Given the description of an element on the screen output the (x, y) to click on. 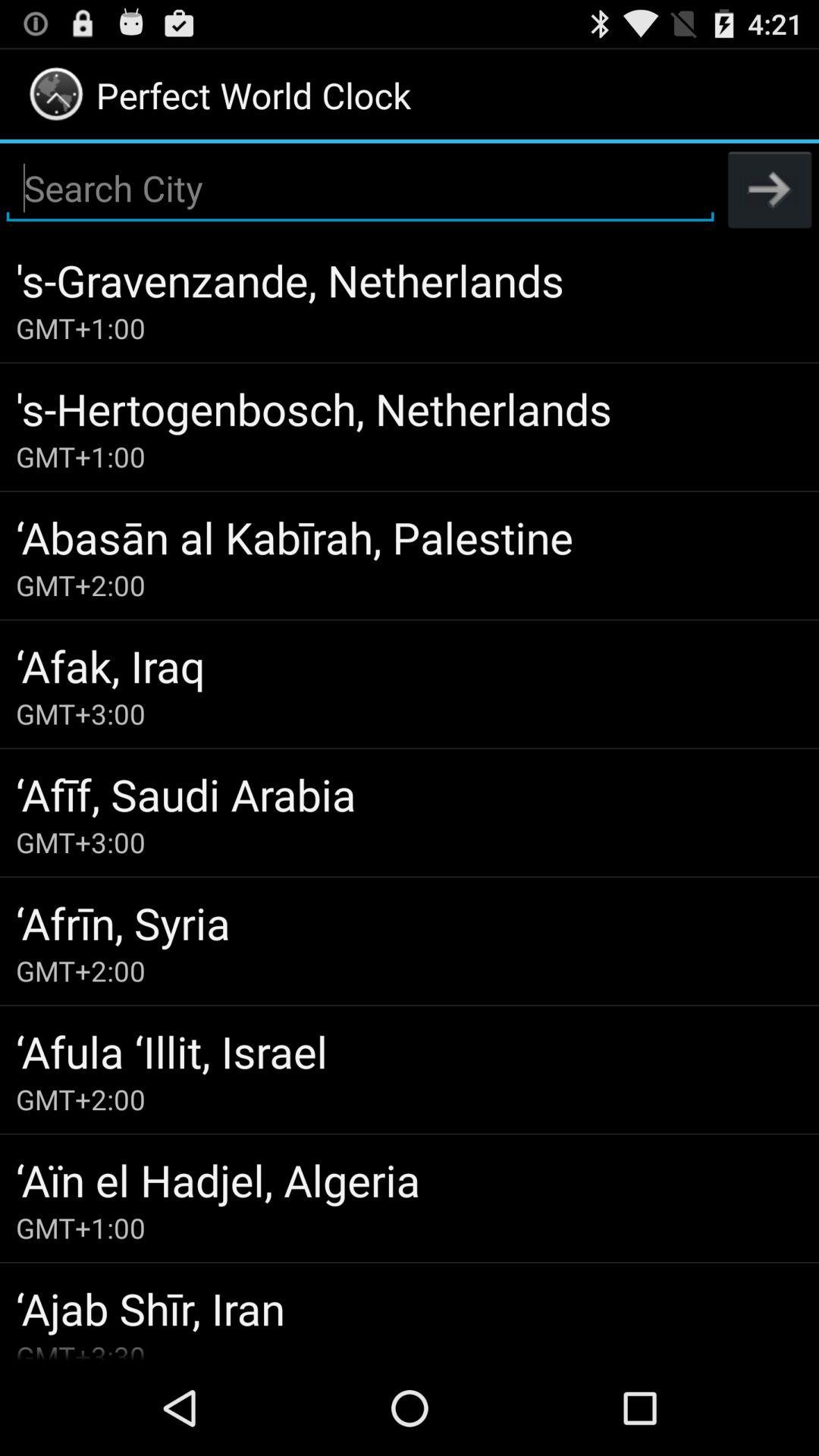
click the item below gmt+2:00 item (409, 1051)
